Given the description of an element on the screen output the (x, y) to click on. 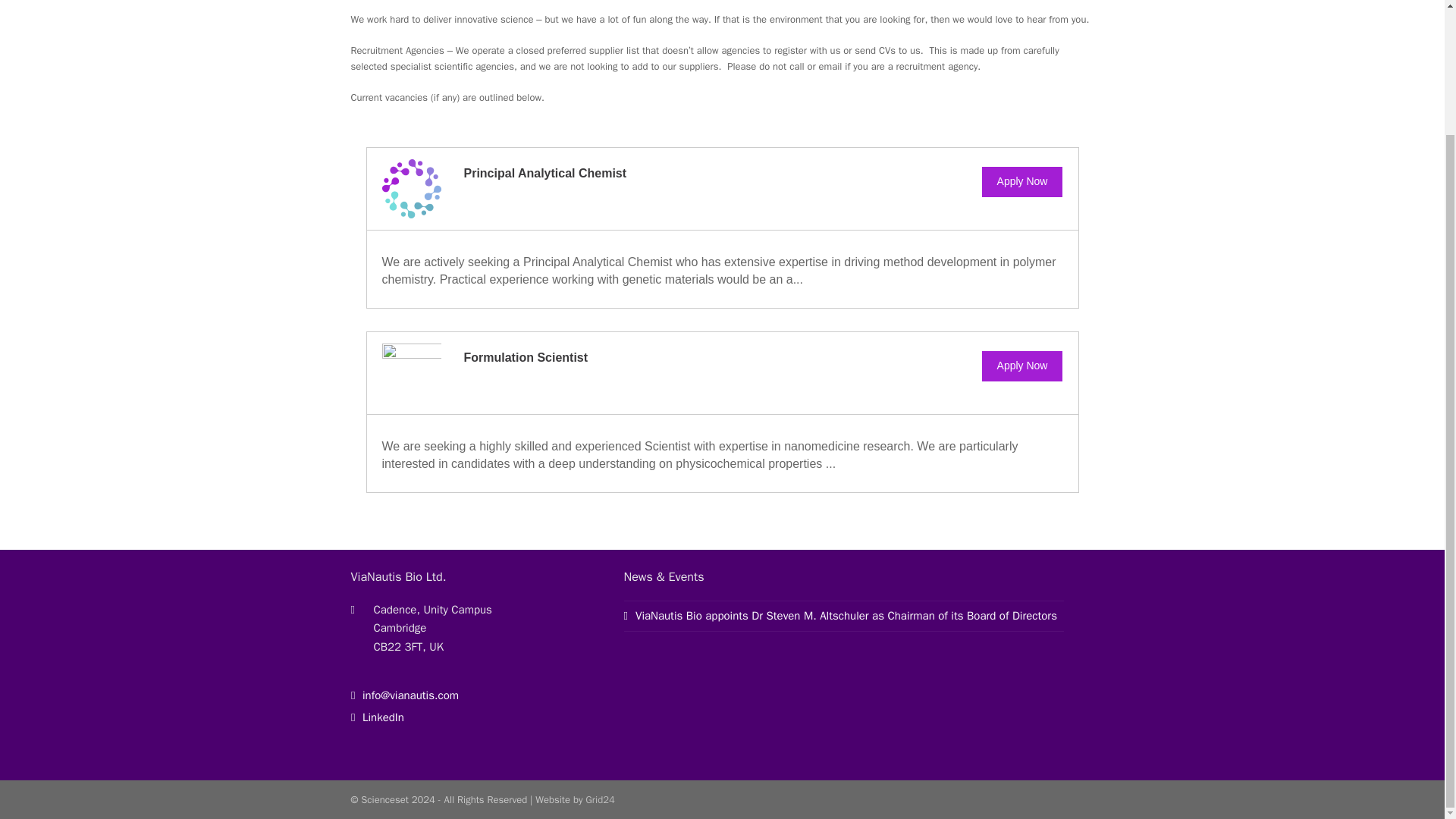
LinkedIn (376, 716)
Formulation Scientist (526, 357)
Principal Analytical Chemist (545, 173)
Grid24 (599, 799)
Apply Now (1021, 182)
Apply Now (1021, 366)
